Given the description of an element on the screen output the (x, y) to click on. 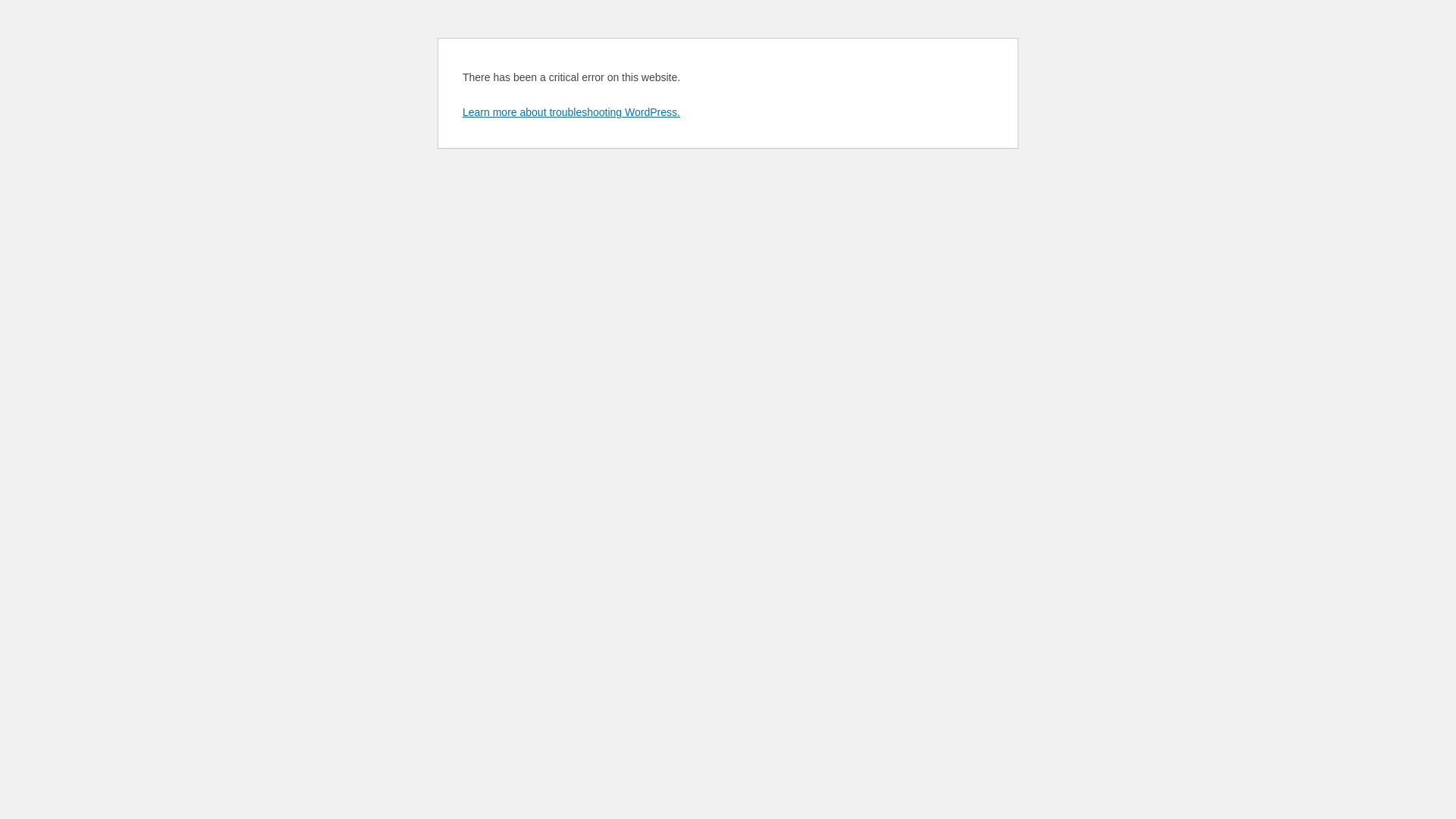
Learn more about troubleshooting WordPress. Element type: text (571, 112)
